Given the description of an element on the screen output the (x, y) to click on. 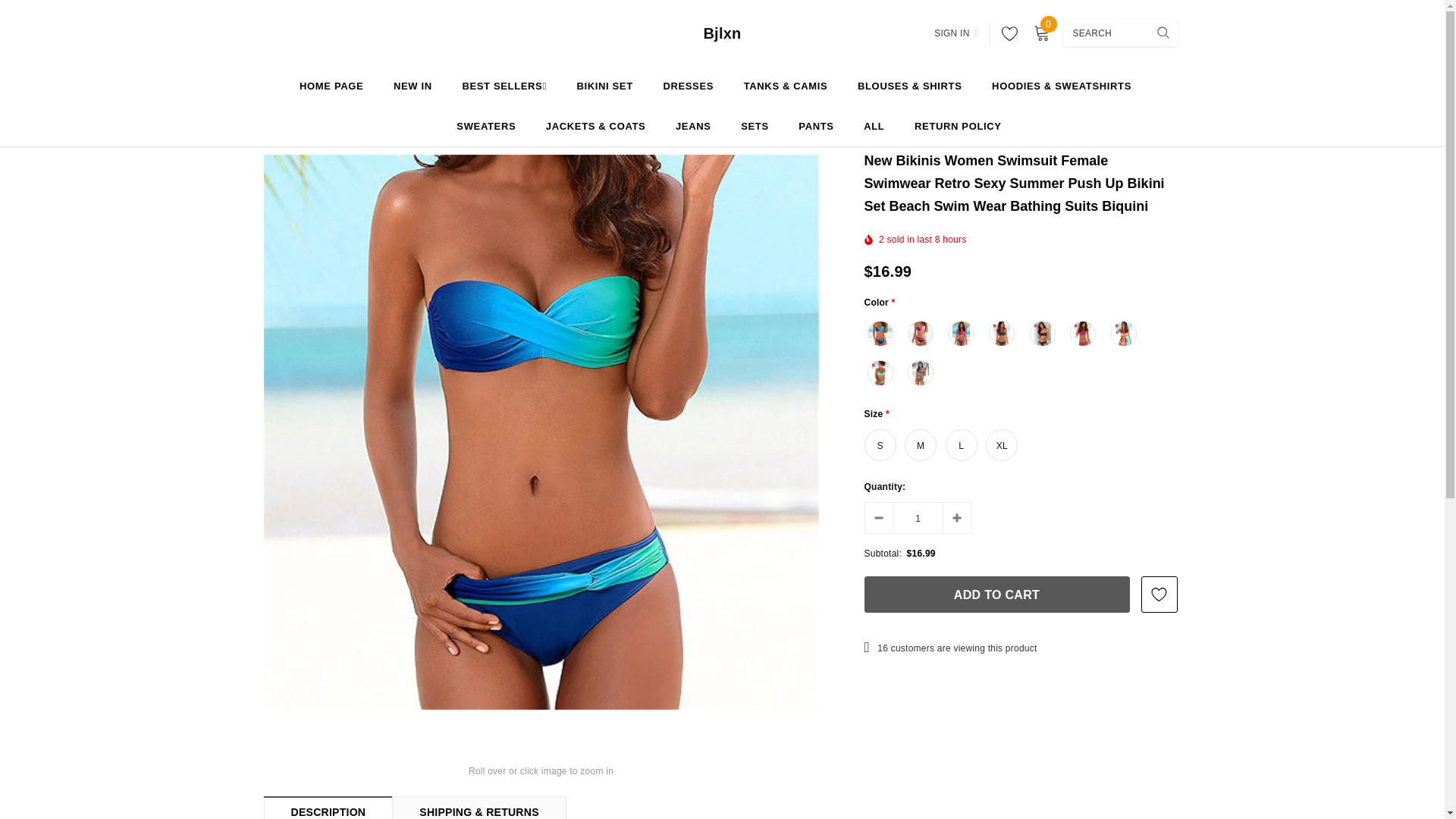
0 (1040, 33)
Bjlxn (722, 33)
1 (917, 517)
SIGN IN (956, 33)
Add to Cart (996, 594)
